Given the description of an element on the screen output the (x, y) to click on. 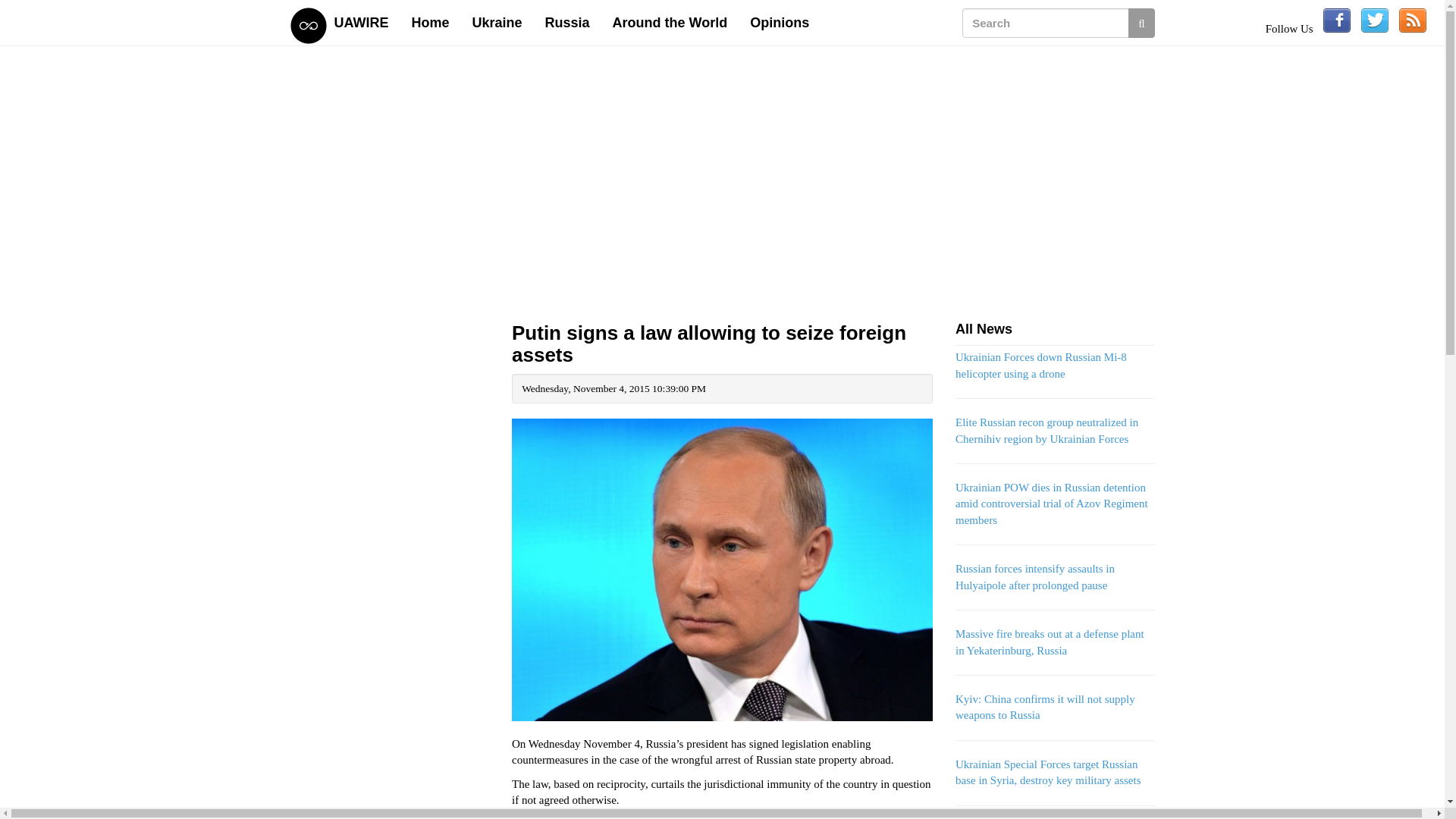
Russia (567, 22)
Home (430, 22)
Ukrainian Forces down Russian Mi-8 helicopter using a drone (1040, 365)
Opinions (779, 22)
Advertisement (389, 790)
Around the World (670, 22)
Follow us on Twitter (1375, 20)
Follow us on Facebook (1337, 20)
UAWIRE (361, 22)
Subscribe to our rss feed (1412, 20)
